Given the description of an element on the screen output the (x, y) to click on. 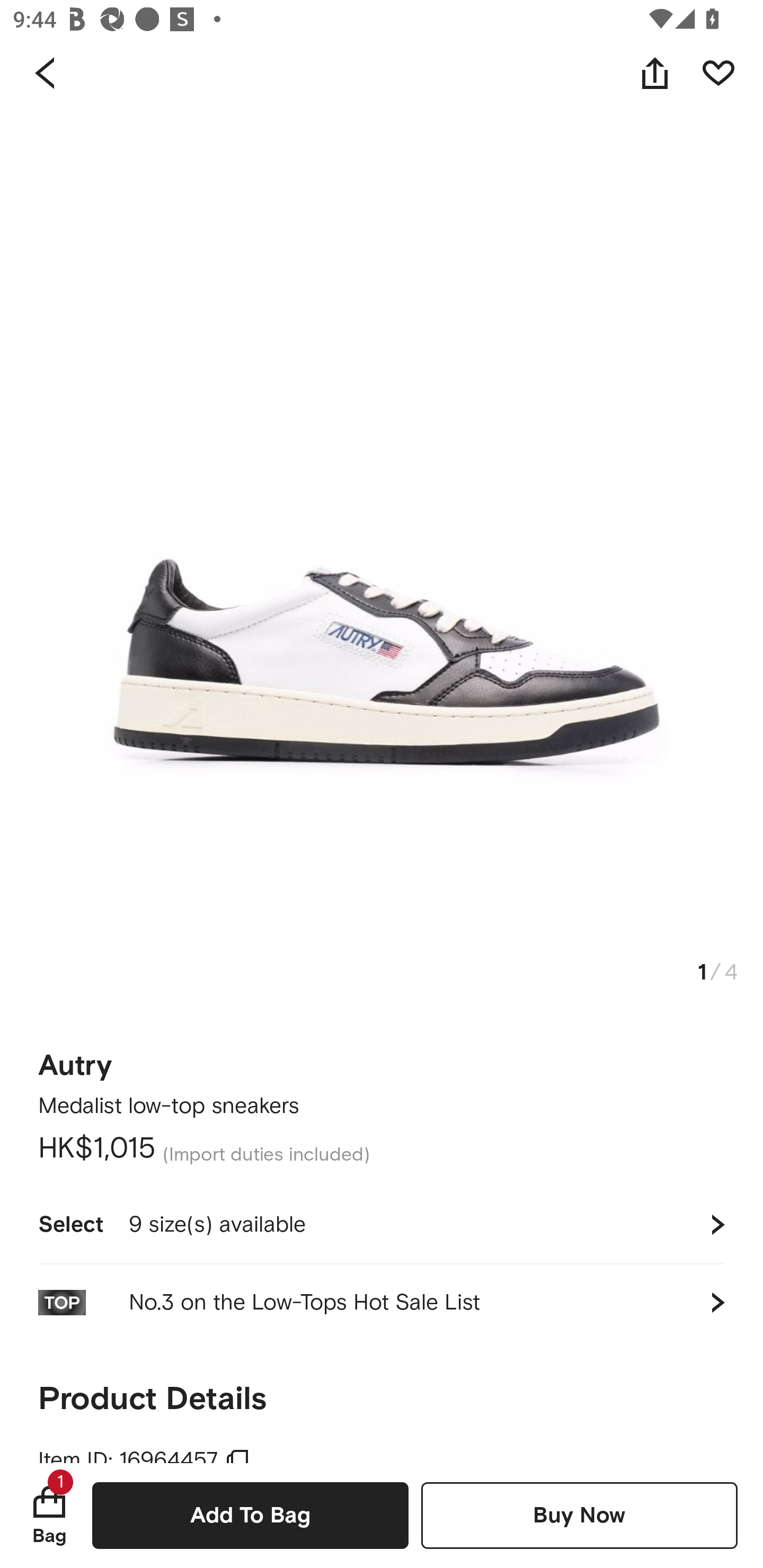
Autry (75, 1065)
Select 9 size(s) available (381, 1224)
No.3 on the Low-Tops Hot Sale List (381, 1301)
Bag 1 (49, 1515)
Add To Bag (250, 1515)
Buy Now (579, 1515)
